Given the description of an element on the screen output the (x, y) to click on. 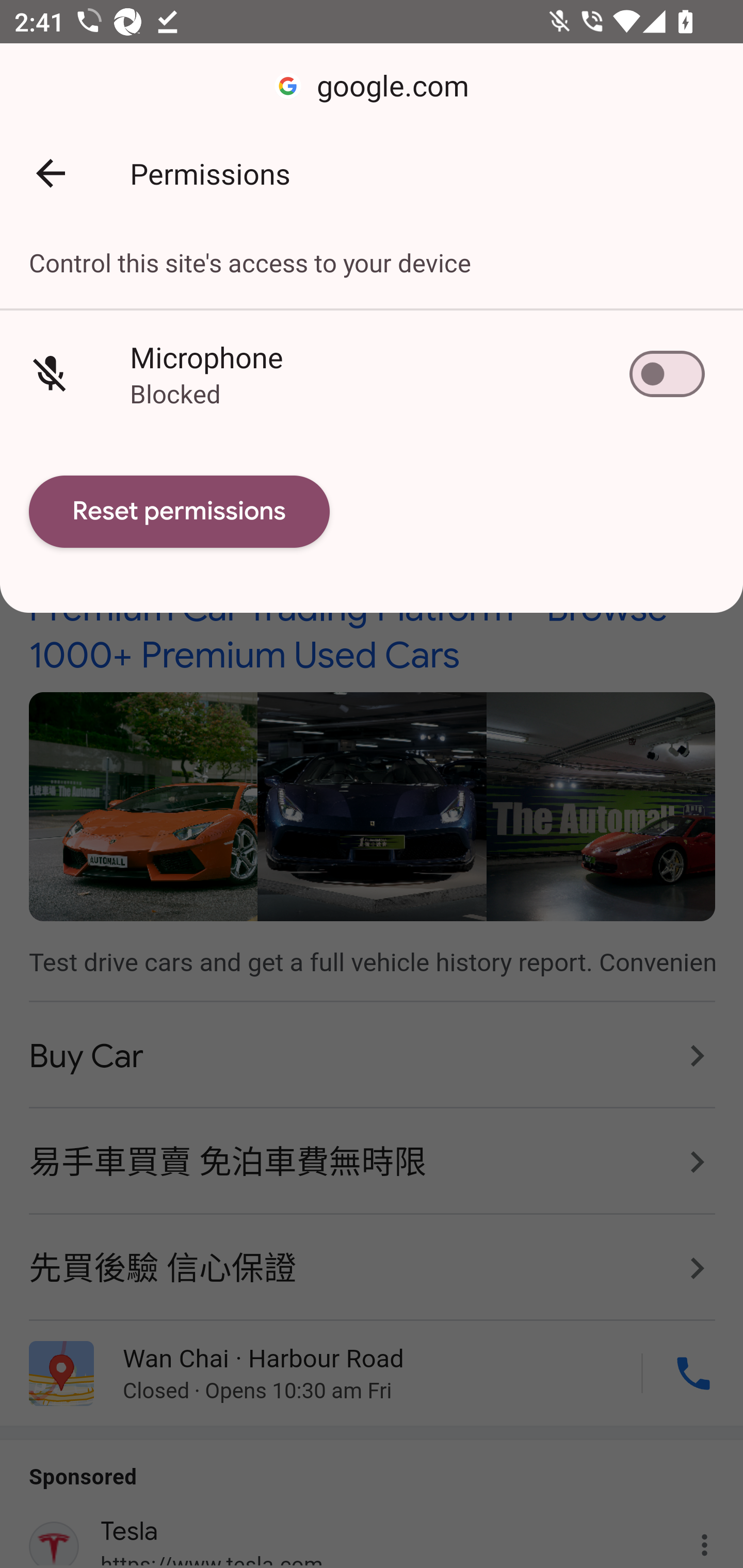
google.com (371, 86)
Back (50, 173)
Microphone Blocked (371, 373)
Reset permissions (178, 511)
